Given the description of an element on the screen output the (x, y) to click on. 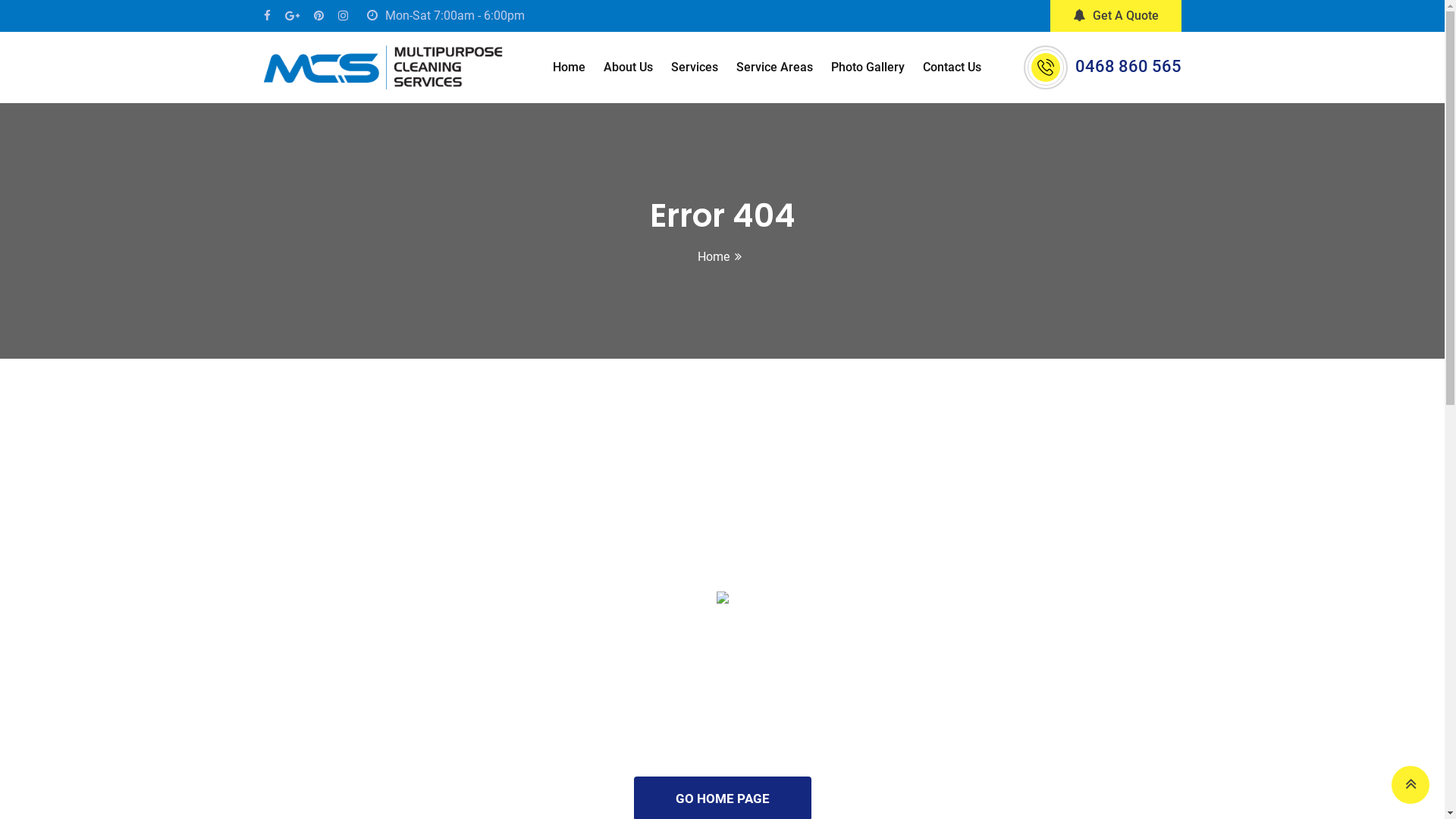
Home Element type: text (713, 256)
Get A Quote Element type: text (1114, 15)
Contact Us Element type: text (951, 67)
Services Element type: text (694, 67)
0468 860 565 Element type: text (1128, 65)
Home Element type: text (569, 67)
Photo Gallery Element type: text (867, 67)
Service Areas Element type: text (774, 67)
About Us Element type: text (628, 67)
